Given the description of an element on the screen output the (x, y) to click on. 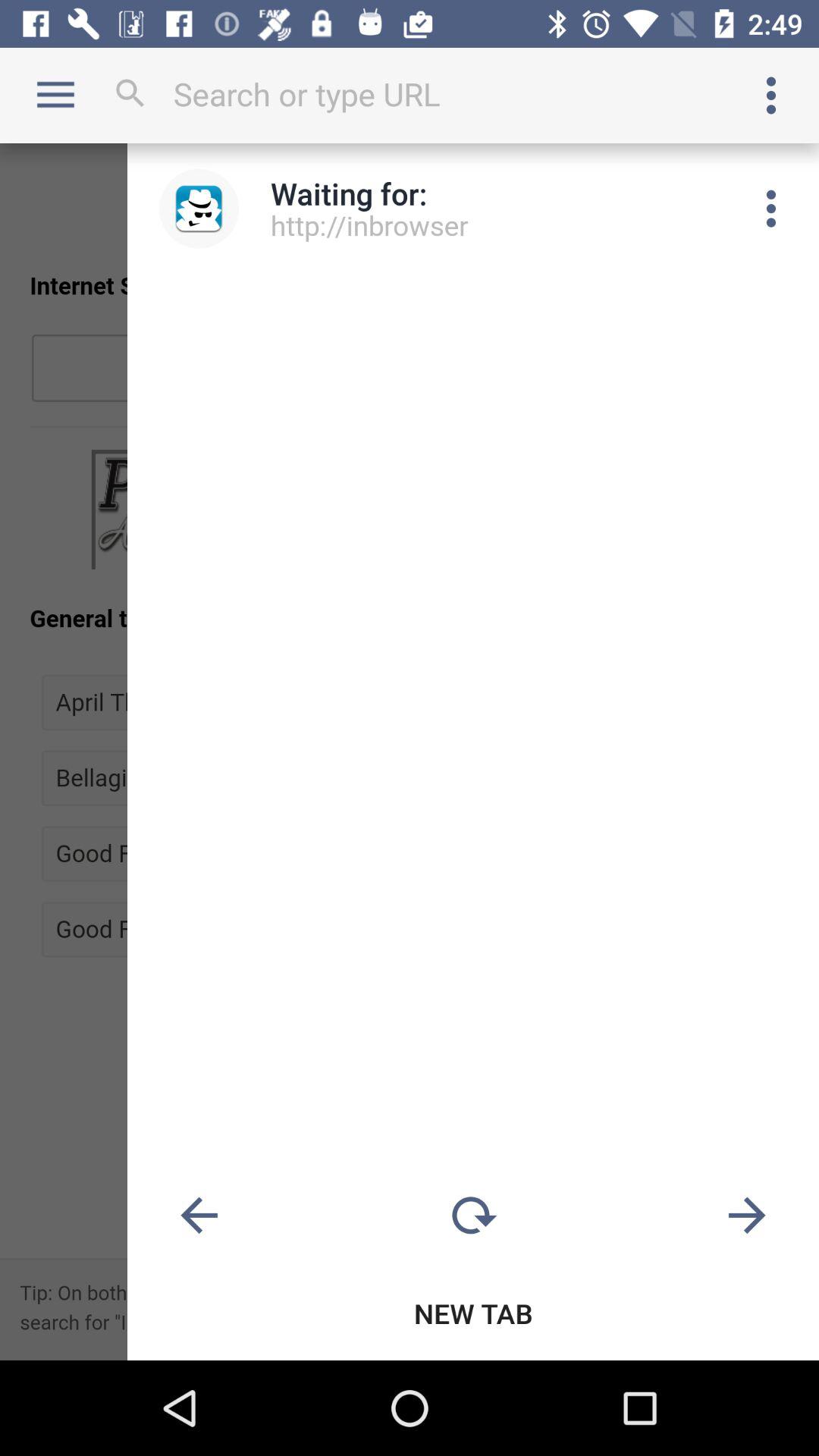
search (409, 94)
